Given the description of an element on the screen output the (x, y) to click on. 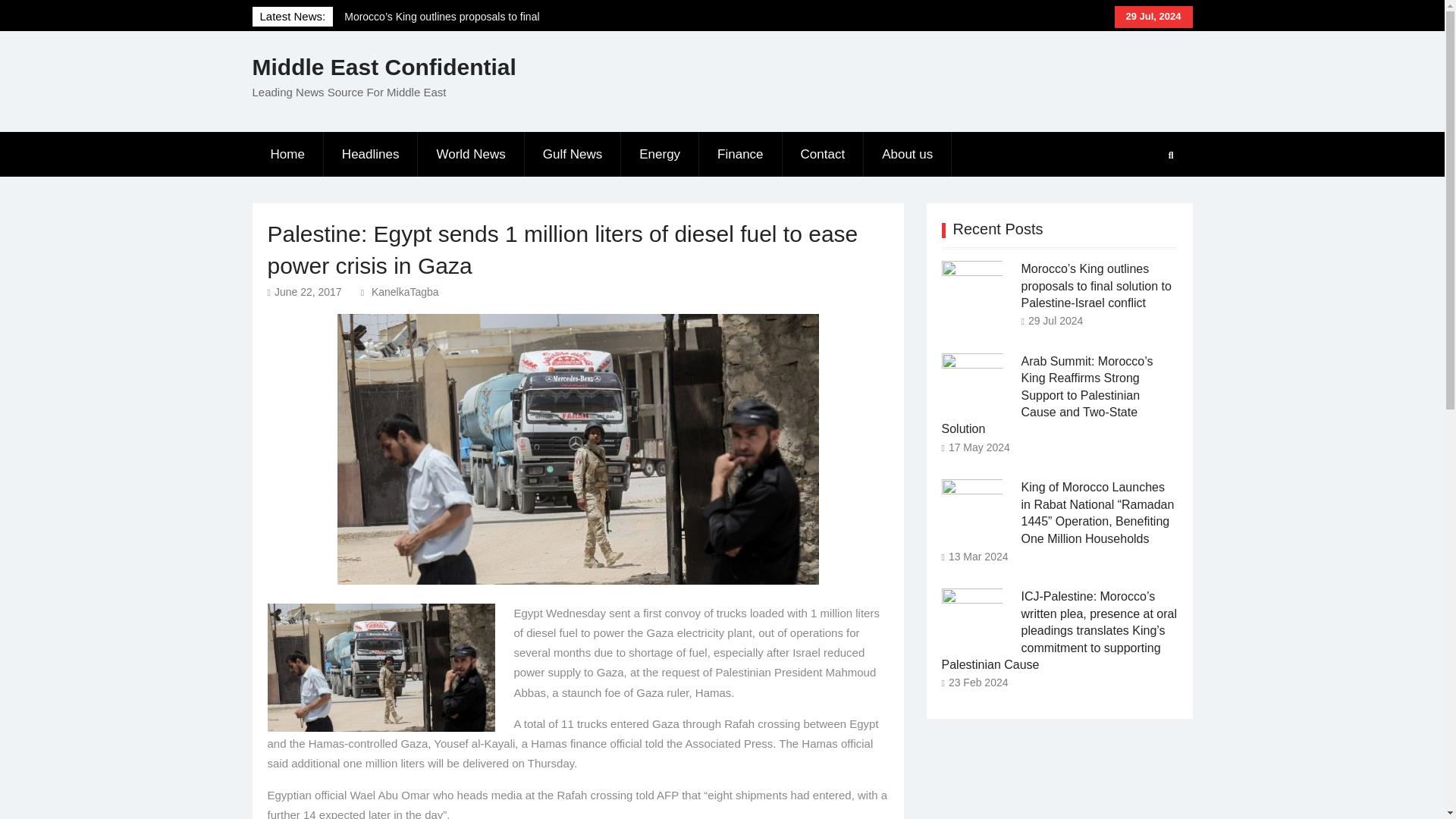
Contact (823, 154)
Finance (739, 154)
Gulf News (572, 154)
World News (470, 154)
Middle East Confidential (383, 66)
About us (907, 154)
Home (287, 154)
KanelkaTagba (405, 291)
June 22, 2017 (308, 291)
Energy (659, 154)
Headlines (371, 154)
